Given the description of an element on the screen output the (x, y) to click on. 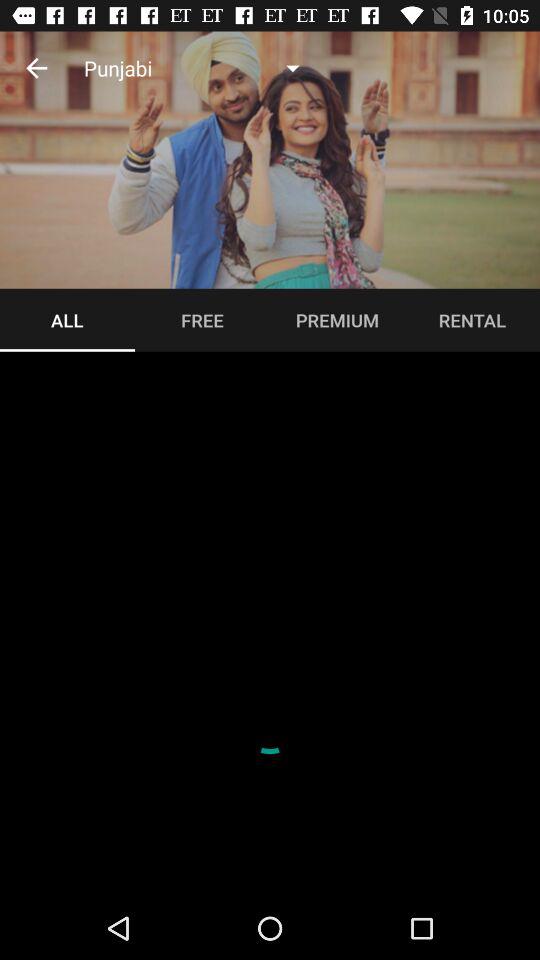
open the icon next to punjabi (36, 68)
